Given the description of an element on the screen output the (x, y) to click on. 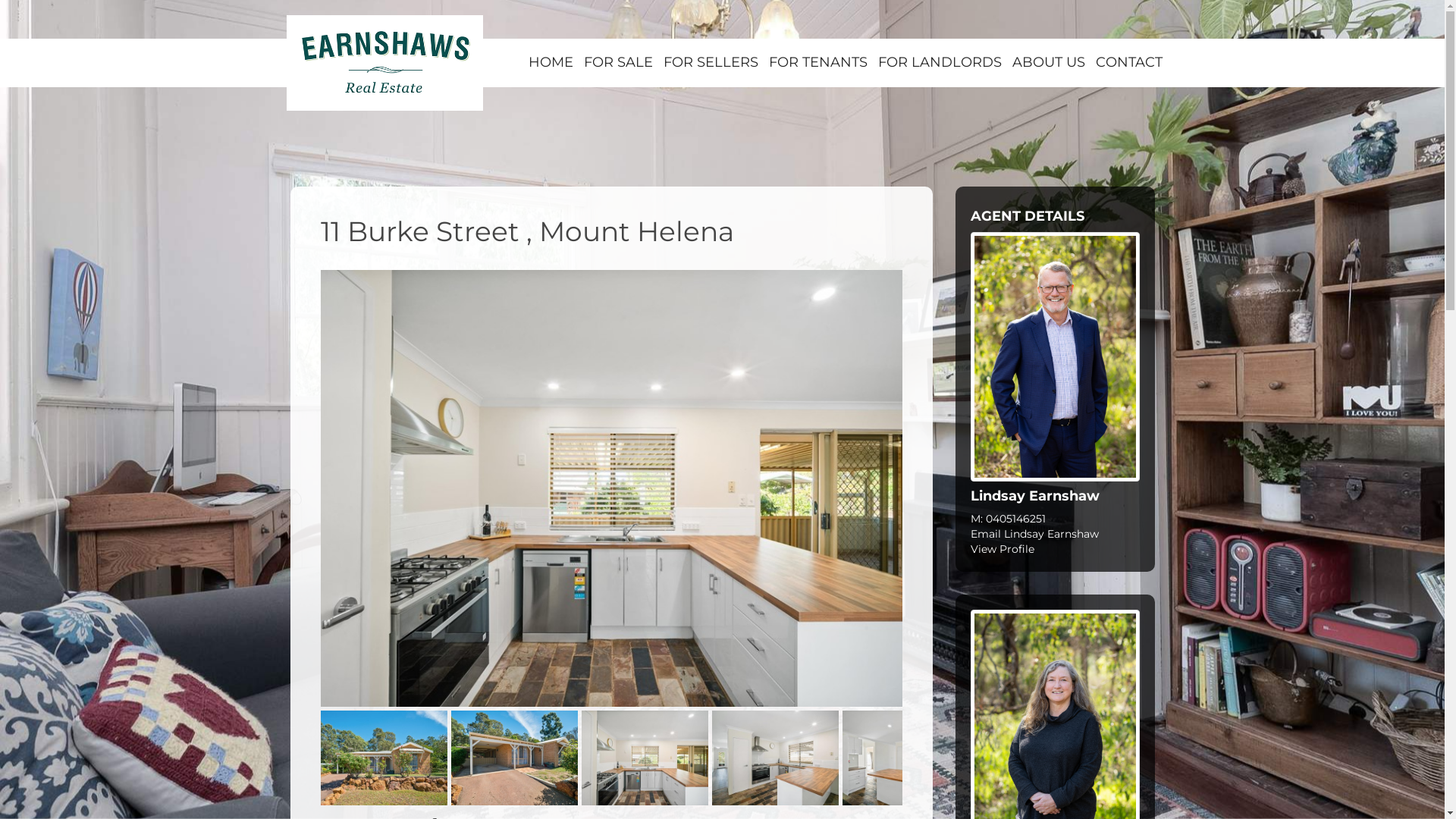
View Profile Element type: text (1002, 548)
HOME Element type: text (550, 61)
Email Lindsay Earnshaw Element type: text (1034, 533)
Property for sale in Mount Helena Element type: hover (774, 757)
Property for sale in Mount Helena Element type: hover (611, 487)
Property for sale in Mount Helena Element type: hover (513, 757)
0405146251 Element type: text (1015, 518)
ABOUT US Element type: text (1048, 61)
Earnshaws Real Estate Element type: hover (384, 61)
FOR SELLERS Element type: text (710, 61)
Earnshaws Real Estate Element type: hover (384, 62)
FOR LANDLORDS Element type: text (938, 61)
Property for sale in Mount Helena Element type: hover (383, 757)
Property for sale in Mount Helena Element type: hover (904, 757)
CONTACT Element type: text (1129, 61)
Lindsay Earnshaw Element type: hover (1054, 356)
Property for sale in Mount Helena Element type: hover (643, 757)
FOR TENANTS Element type: text (817, 61)
FOR SALE Element type: text (617, 61)
